Given the description of an element on the screen output the (x, y) to click on. 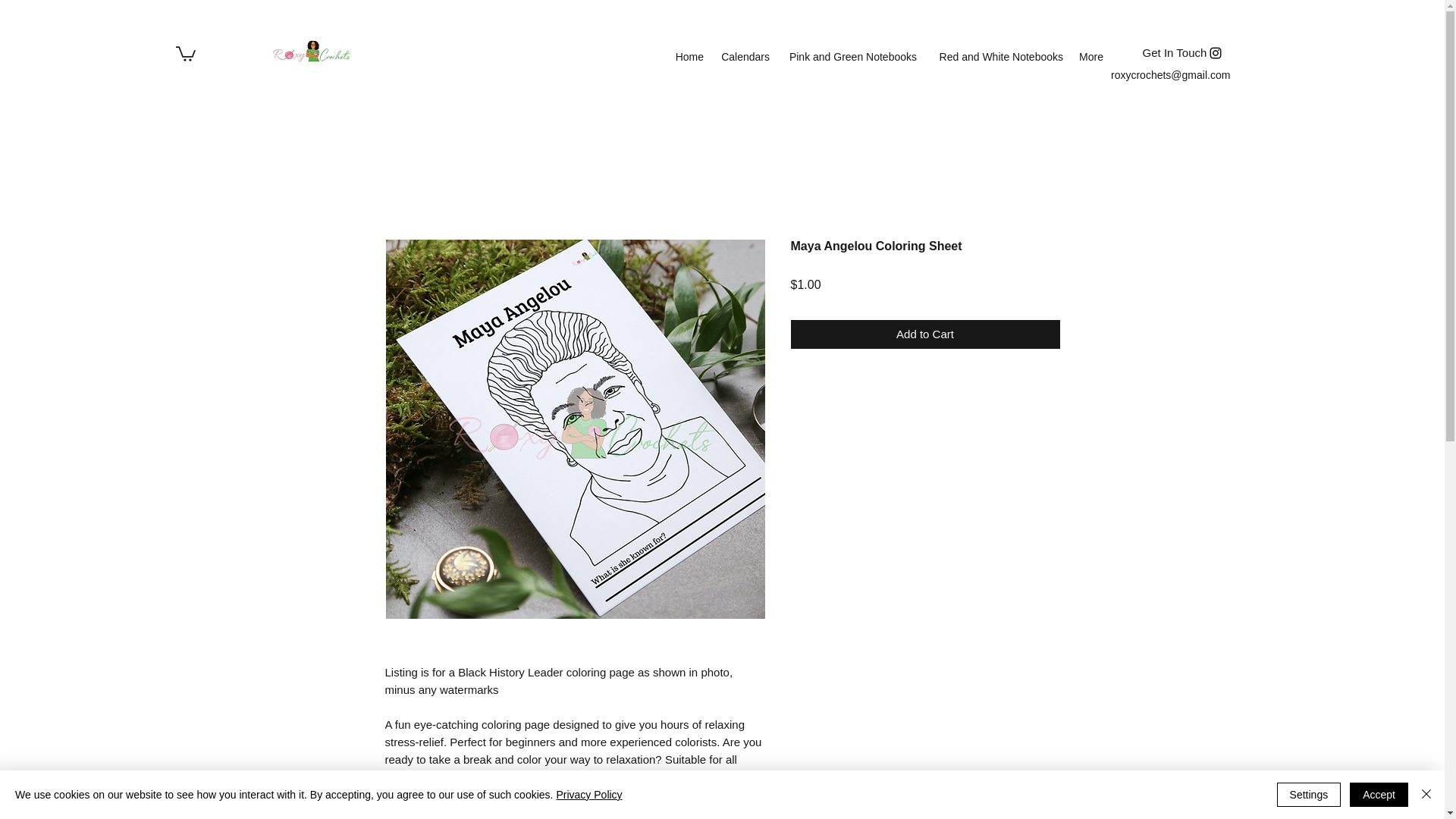
Calendars (744, 56)
Accept (1378, 794)
Settings (1308, 794)
Home (688, 56)
Red and White Notebooks (997, 56)
Add to Cart (924, 334)
Pink and Green Notebooks (850, 56)
Privacy Policy (588, 794)
